Given the description of an element on the screen output the (x, y) to click on. 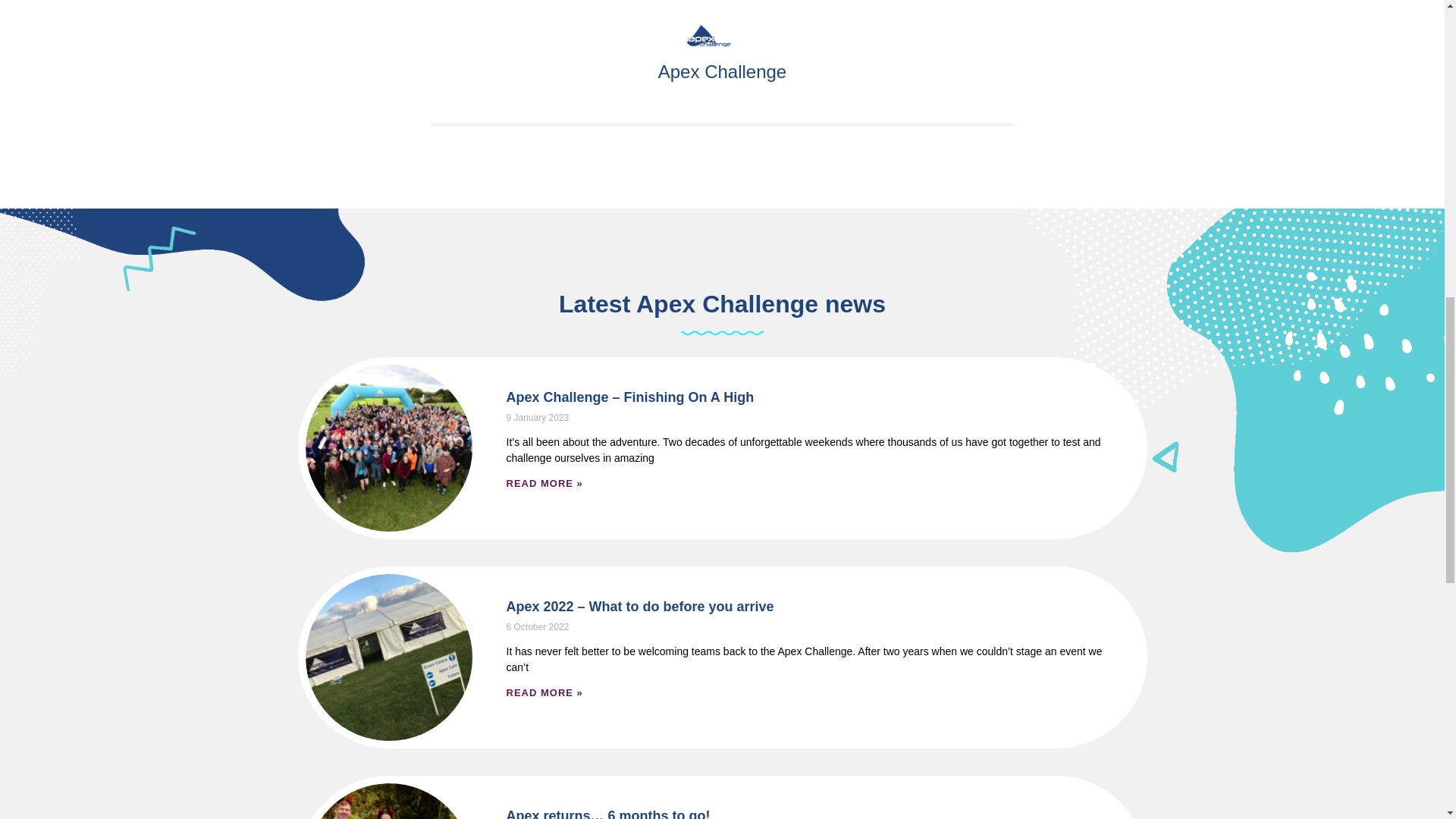
Apex Challenge (722, 72)
